Given the description of an element on the screen output the (x, y) to click on. 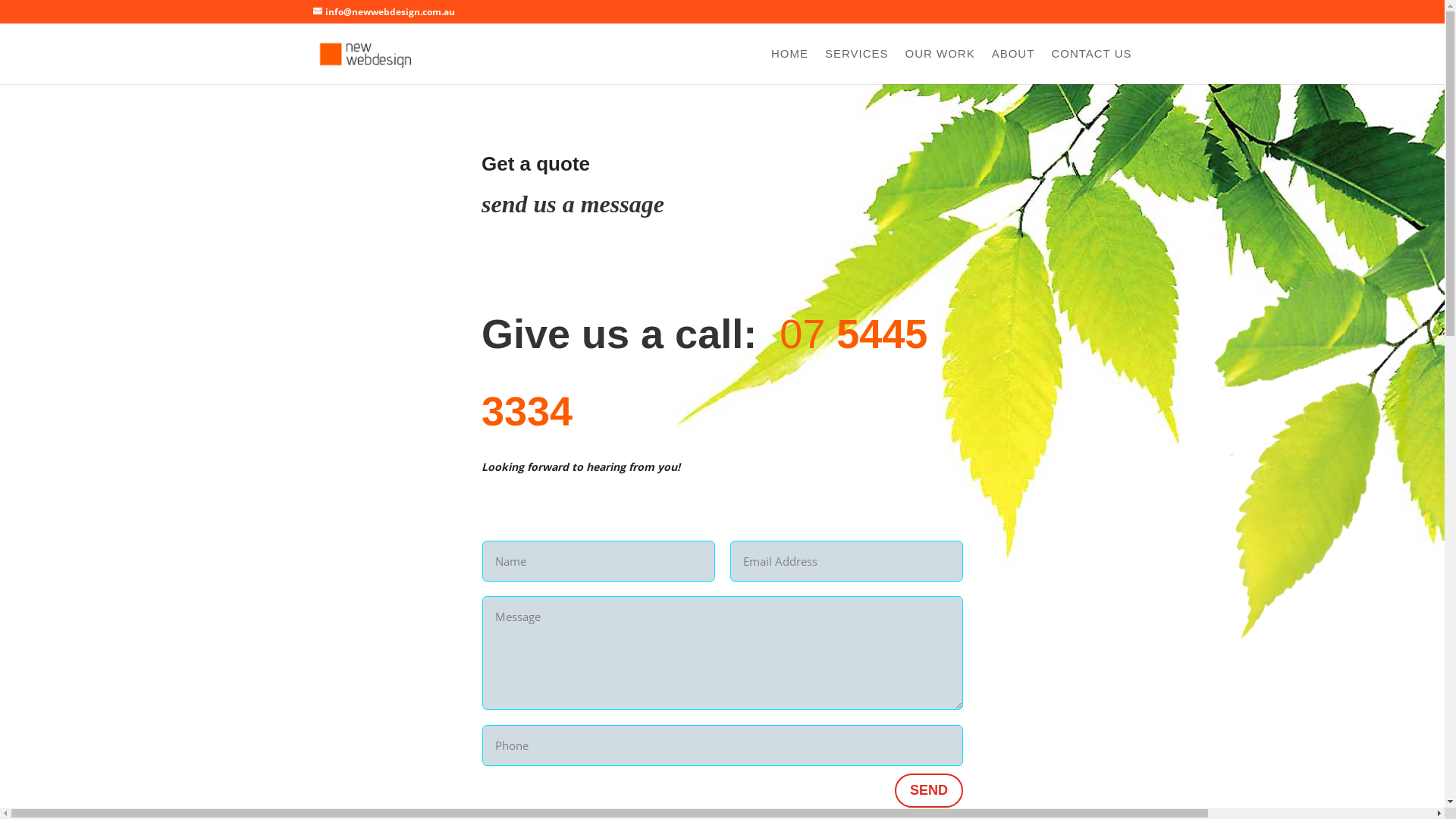
ABOUT Element type: text (1013, 66)
HOME Element type: text (789, 66)
CONTACT US Element type: text (1091, 66)
info@newwebdesign.com.au Element type: text (383, 11)
SEND Element type: text (928, 790)
OUR WORK Element type: text (940, 66)
07 5445 3334 Element type: text (704, 372)
SERVICES Element type: text (856, 66)
